Given the description of an element on the screen output the (x, y) to click on. 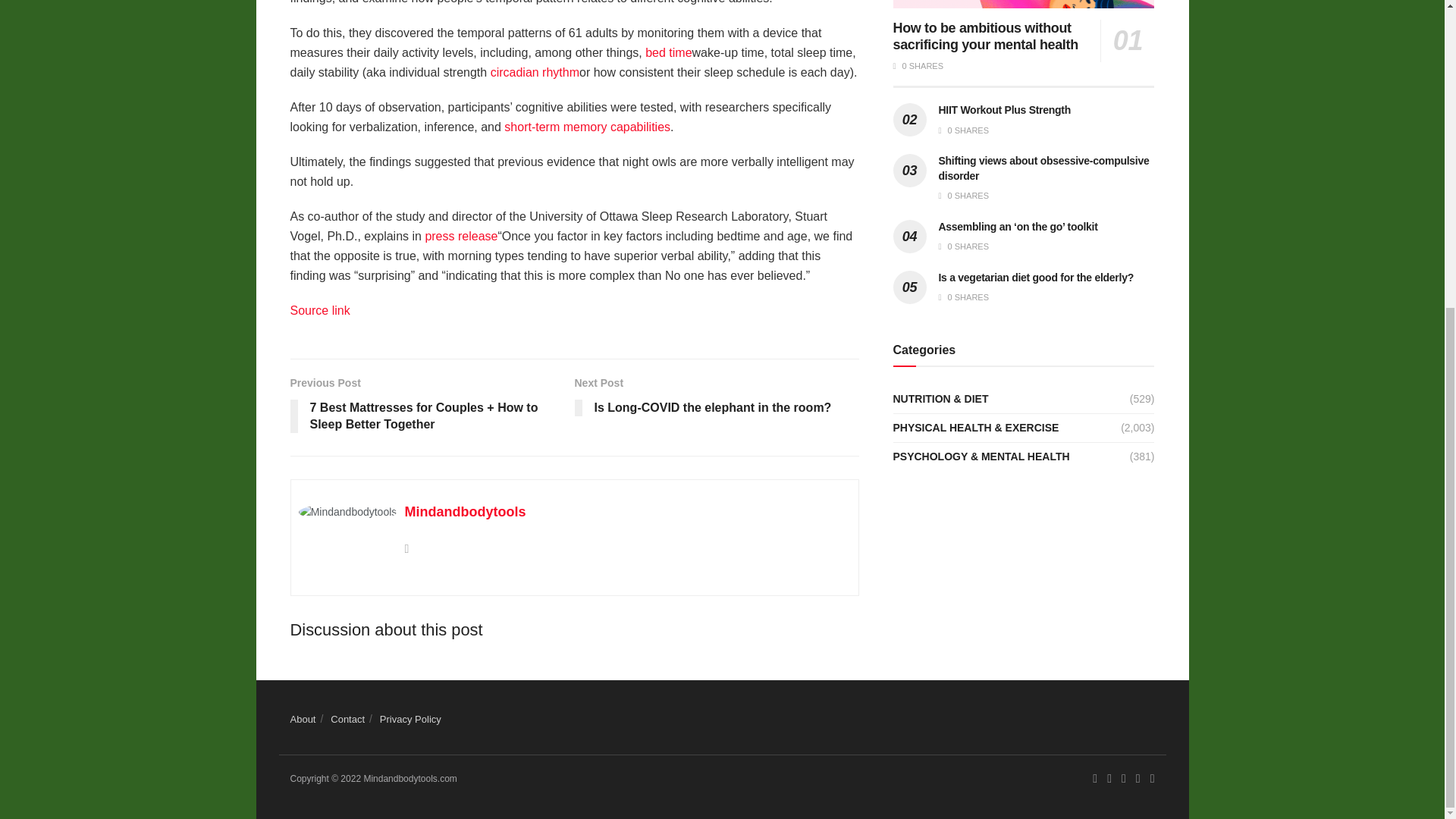
Mindandbodytools (464, 511)
bed time (717, 399)
press release (668, 51)
circadian rhythm (461, 236)
short-term memory capabilities (534, 72)
Source link (586, 126)
